Given the description of an element on the screen output the (x, y) to click on. 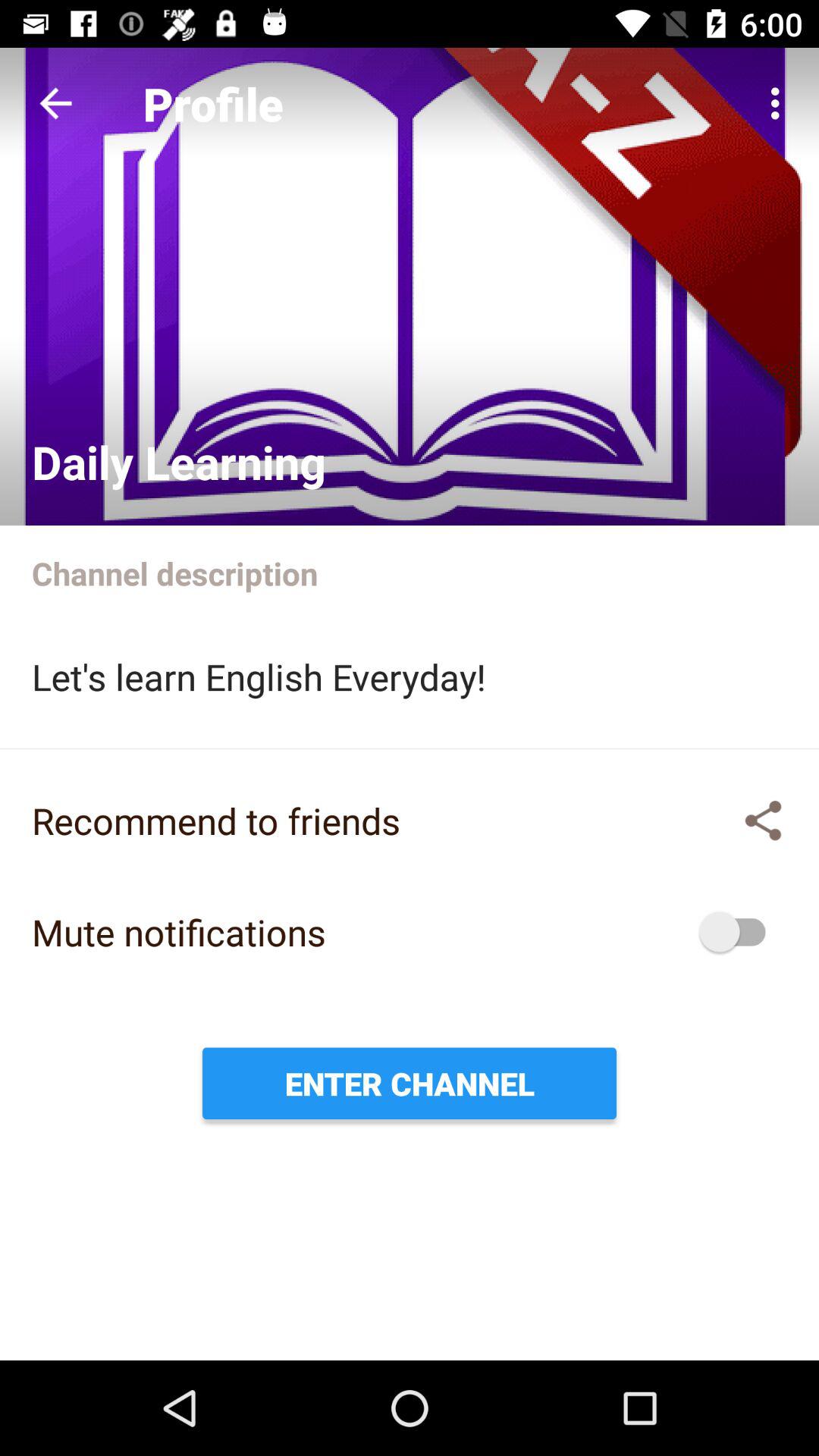
go to previous (55, 103)
